Given the description of an element on the screen output the (x, y) to click on. 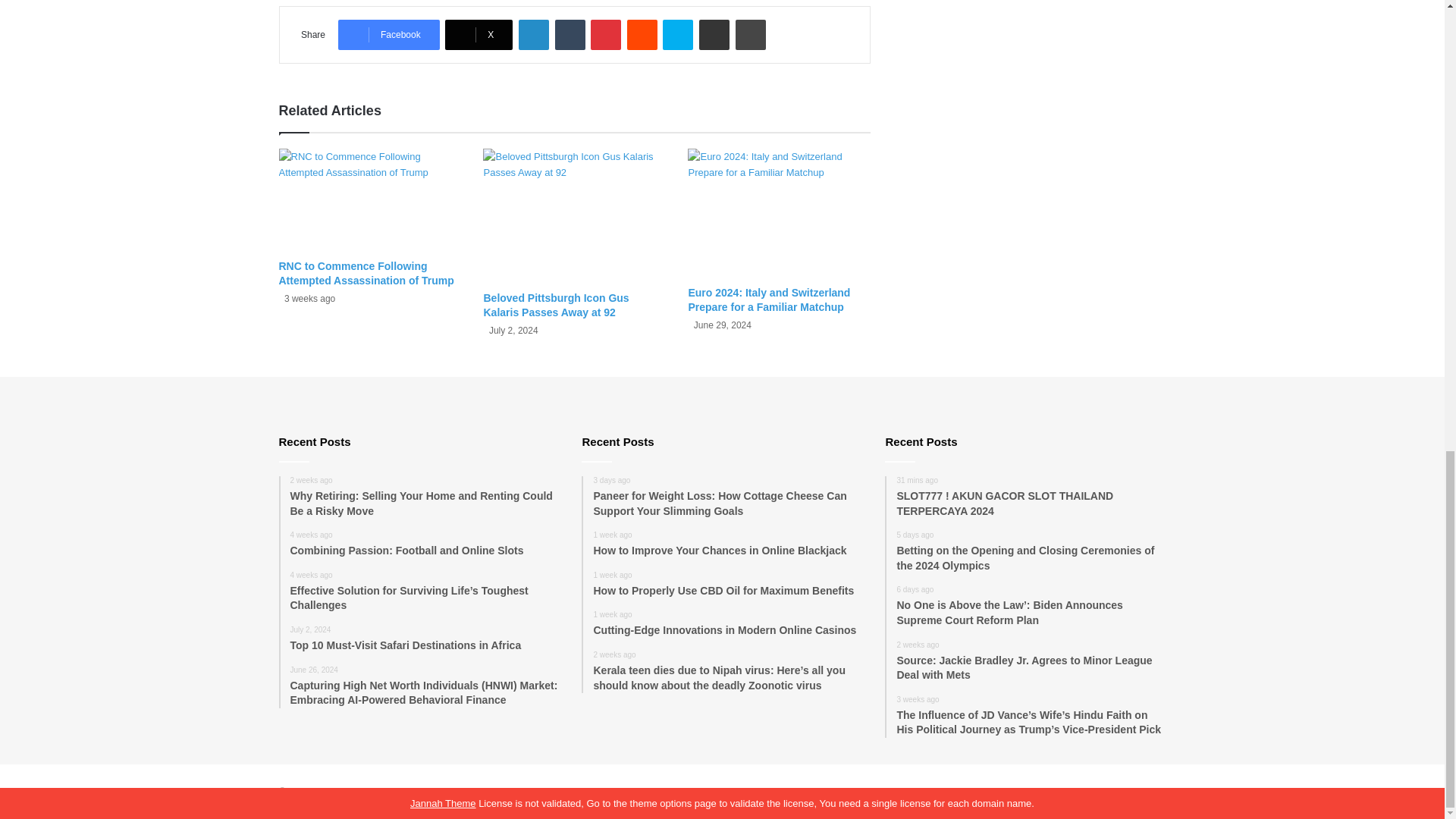
Reddit (642, 34)
Tumblr (569, 34)
Tumblr (569, 34)
LinkedIn (533, 34)
Skype (677, 34)
Reddit (642, 34)
X (478, 34)
Facebook (388, 34)
X (478, 34)
LinkedIn (533, 34)
Facebook (388, 34)
Pinterest (606, 34)
Skype (677, 34)
Share via Email (713, 34)
Pinterest (606, 34)
